Given the description of an element on the screen output the (x, y) to click on. 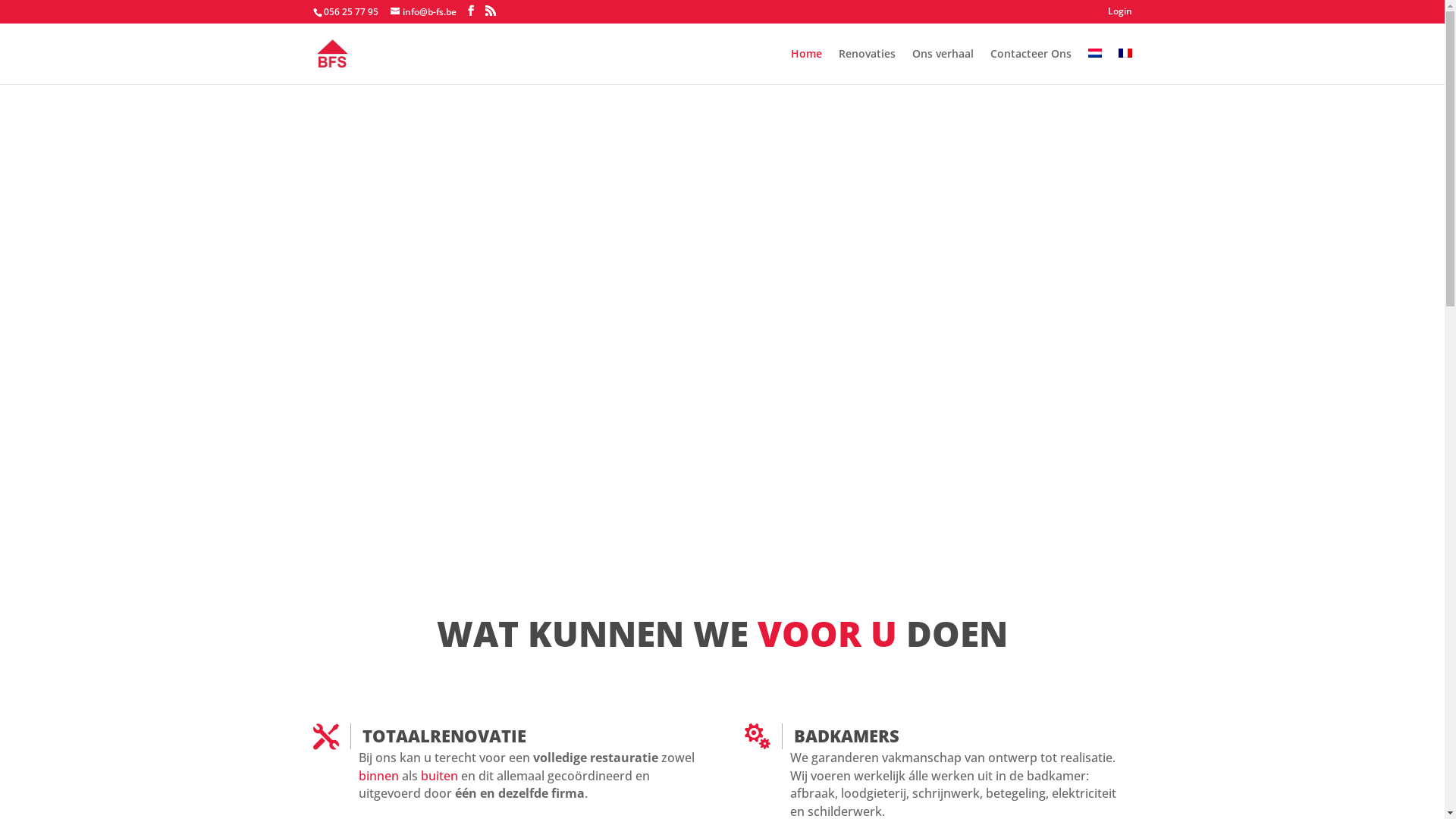
TOTAALRENOVATIE Element type: text (444, 735)
Ons verhaal Element type: text (941, 66)
info@b-fs.be Element type: text (422, 11)
Contacteer Ons Element type: text (1030, 66)
Login Element type: text (1119, 14)
Renovaties Element type: text (866, 66)
We kunnen u helpen Element type: text (722, 413)
BADKAMERS Element type: text (846, 735)
Home Element type: text (805, 66)
